Given the description of an element on the screen output the (x, y) to click on. 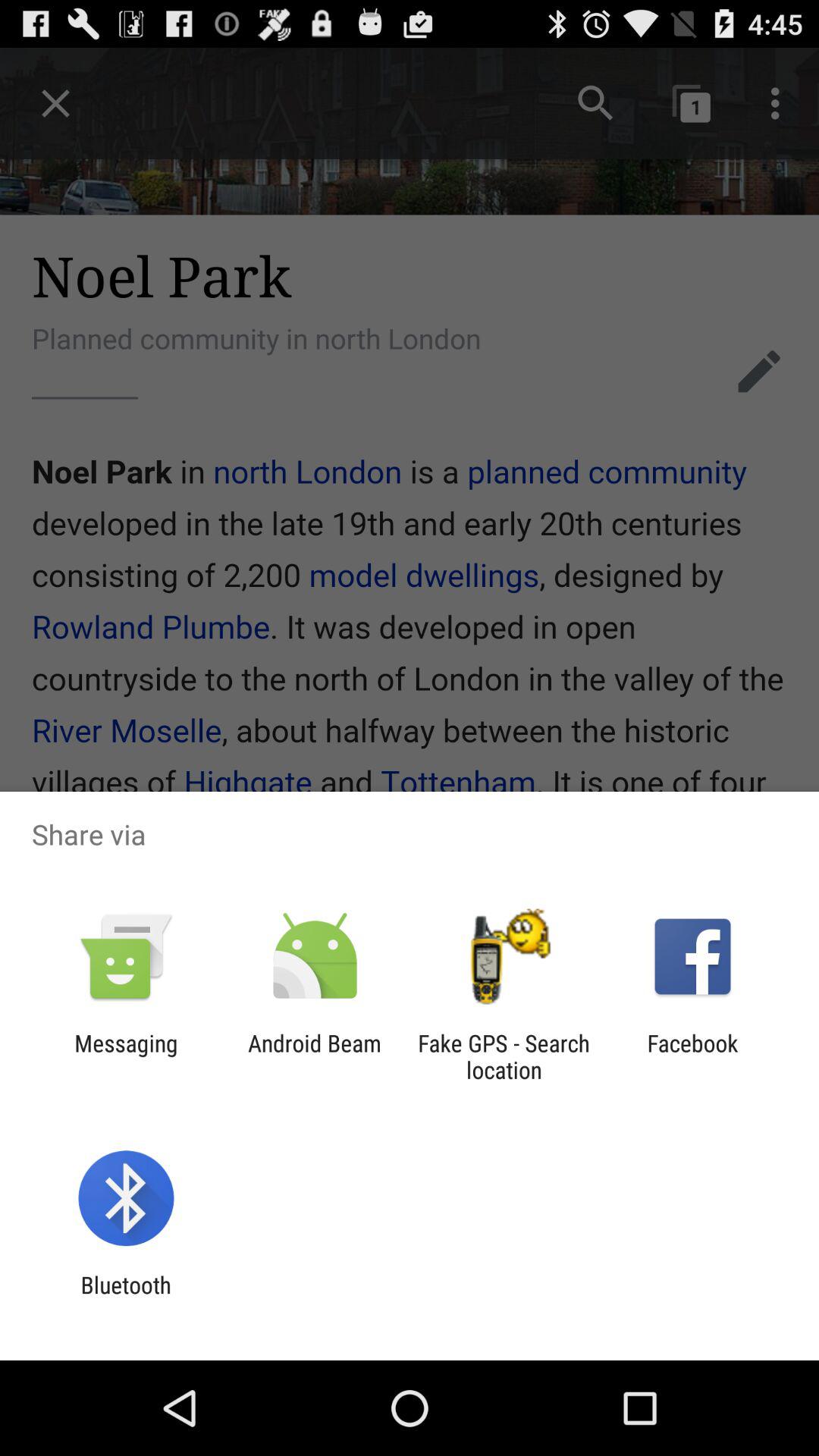
choose item to the right of messaging item (314, 1056)
